Given the description of an element on the screen output the (x, y) to click on. 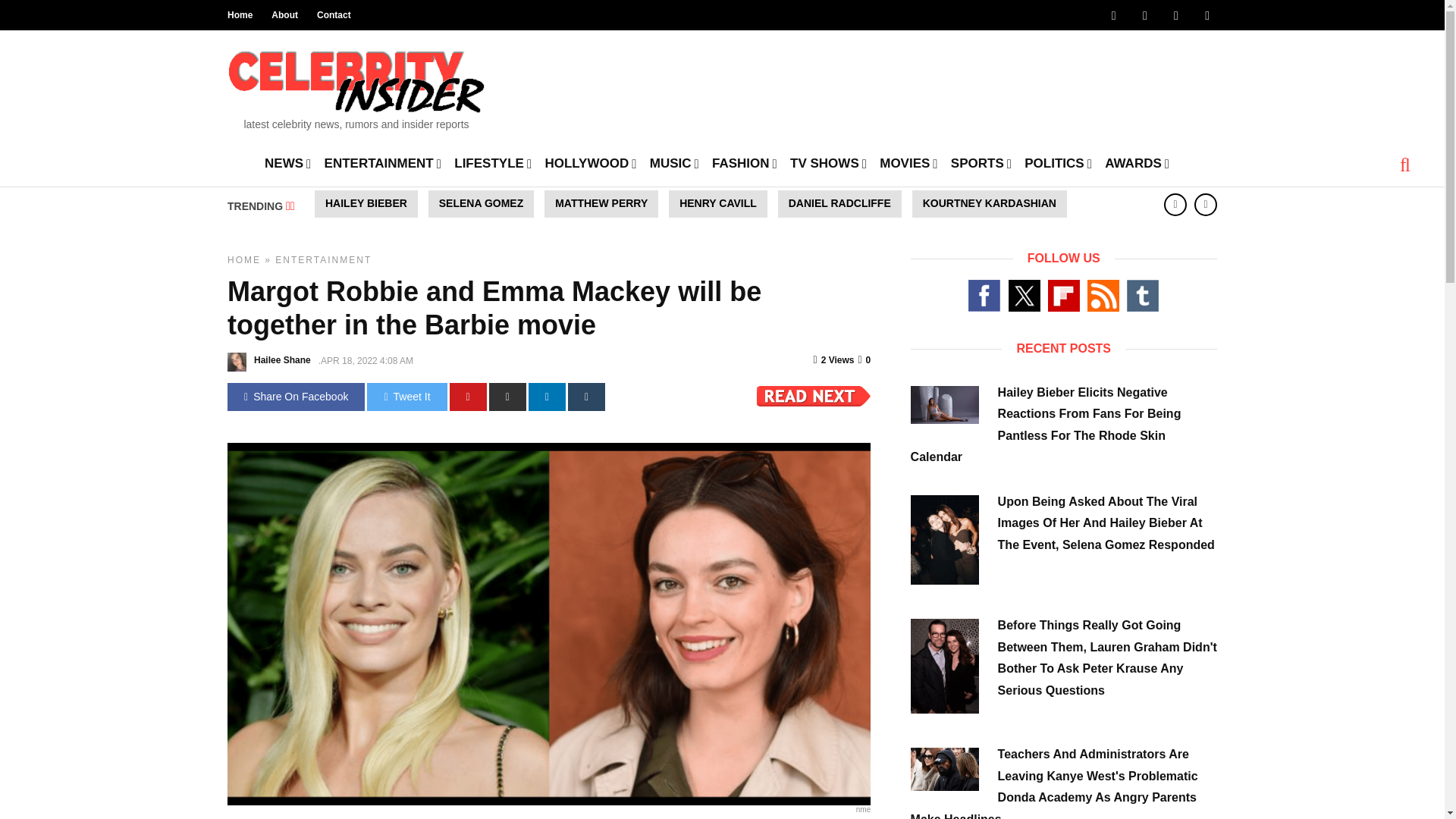
MATTHEW PERRY (601, 203)
TV SHOWS (828, 162)
Share On Linkedin (547, 397)
Share On Pinterest (467, 397)
MUSIC (674, 162)
Contact (333, 14)
SPORTS (981, 162)
HOLLYWOOD (590, 162)
NEWS (287, 162)
SELENA GOMEZ (481, 203)
